Given the description of an element on the screen output the (x, y) to click on. 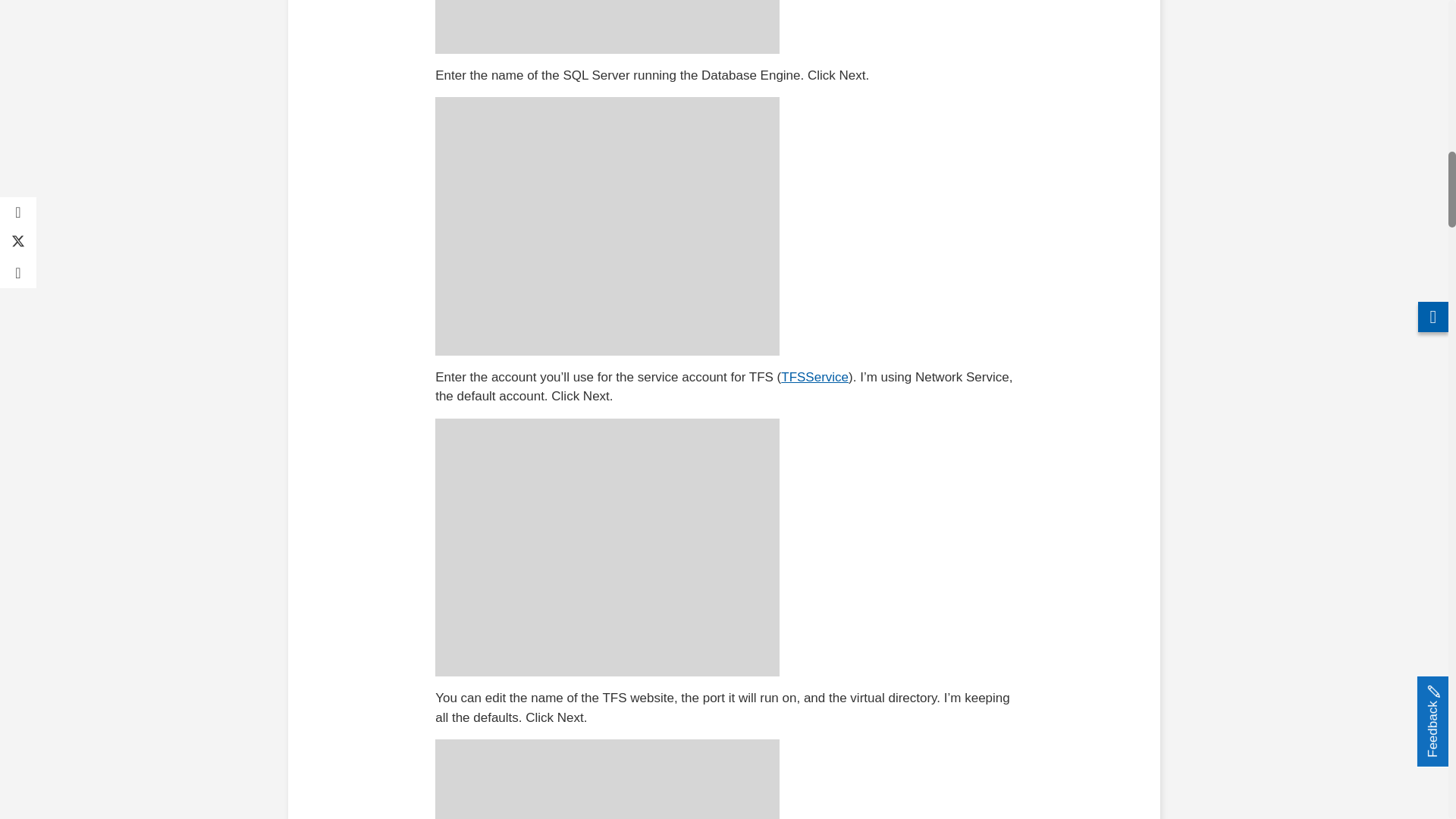
install-adv-003 (606, 27)
install-adv-004 (606, 226)
install-adv-006 (606, 779)
install-adv-005 (606, 547)
